Given the description of an element on the screen output the (x, y) to click on. 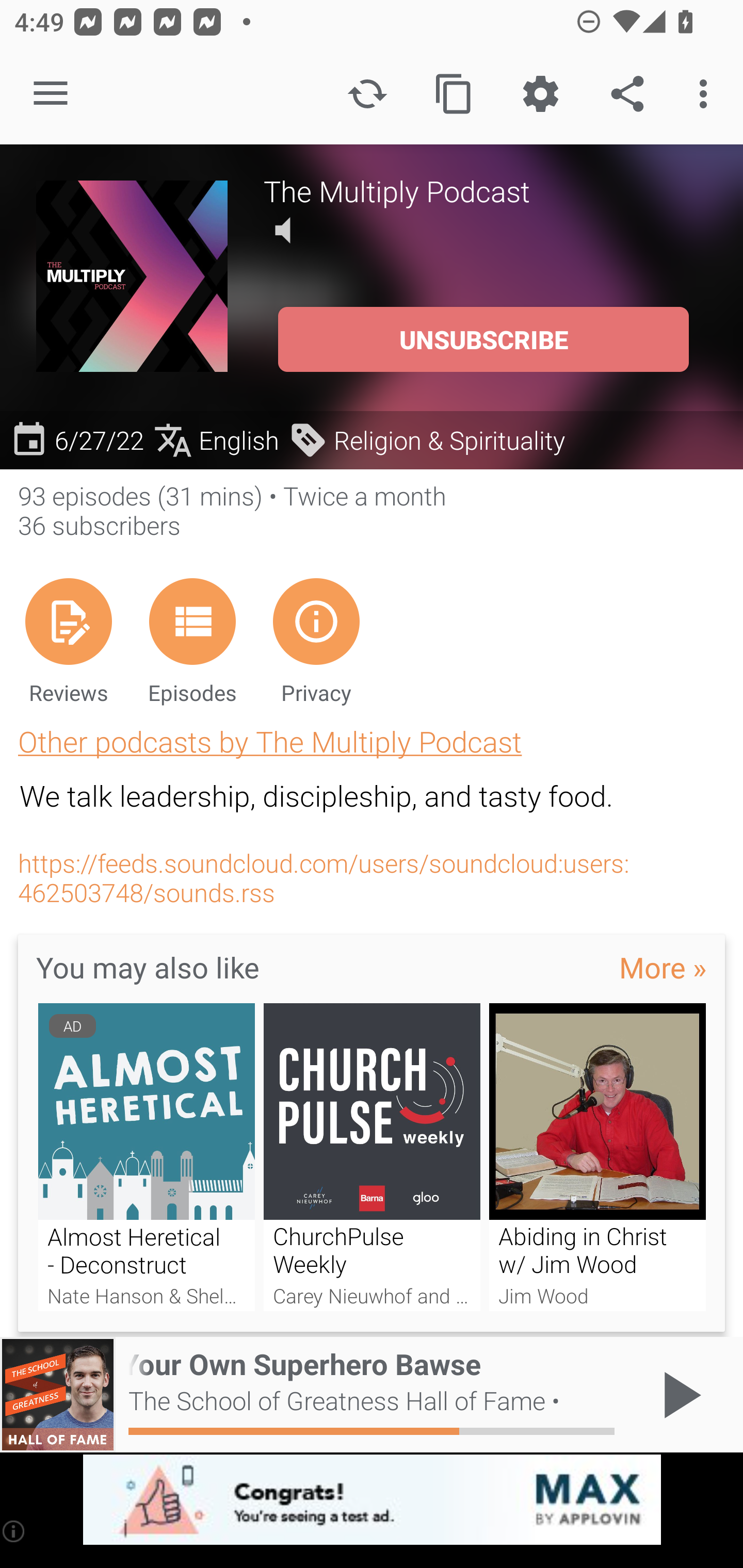
Open navigation sidebar (50, 93)
Refresh podcast description (366, 93)
Copy feed url to clipboard (453, 93)
Custom Settings (540, 93)
Share the podcast (626, 93)
More options (706, 93)
The Multiply Podcast (484, 190)
UNSUBSCRIBE (482, 339)
Religion & Spirituality (426, 439)
Reviews (68, 640)
Episodes (192, 640)
Privacy (315, 640)
Other podcasts by The Multiply Podcast (269, 740)
More » (662, 966)
Abiding in Christ w/ Jim Wood Jim Wood (596, 1156)
Play / Pause (677, 1394)
app-monetization (371, 1500)
(i) (14, 1531)
